Given the description of an element on the screen output the (x, y) to click on. 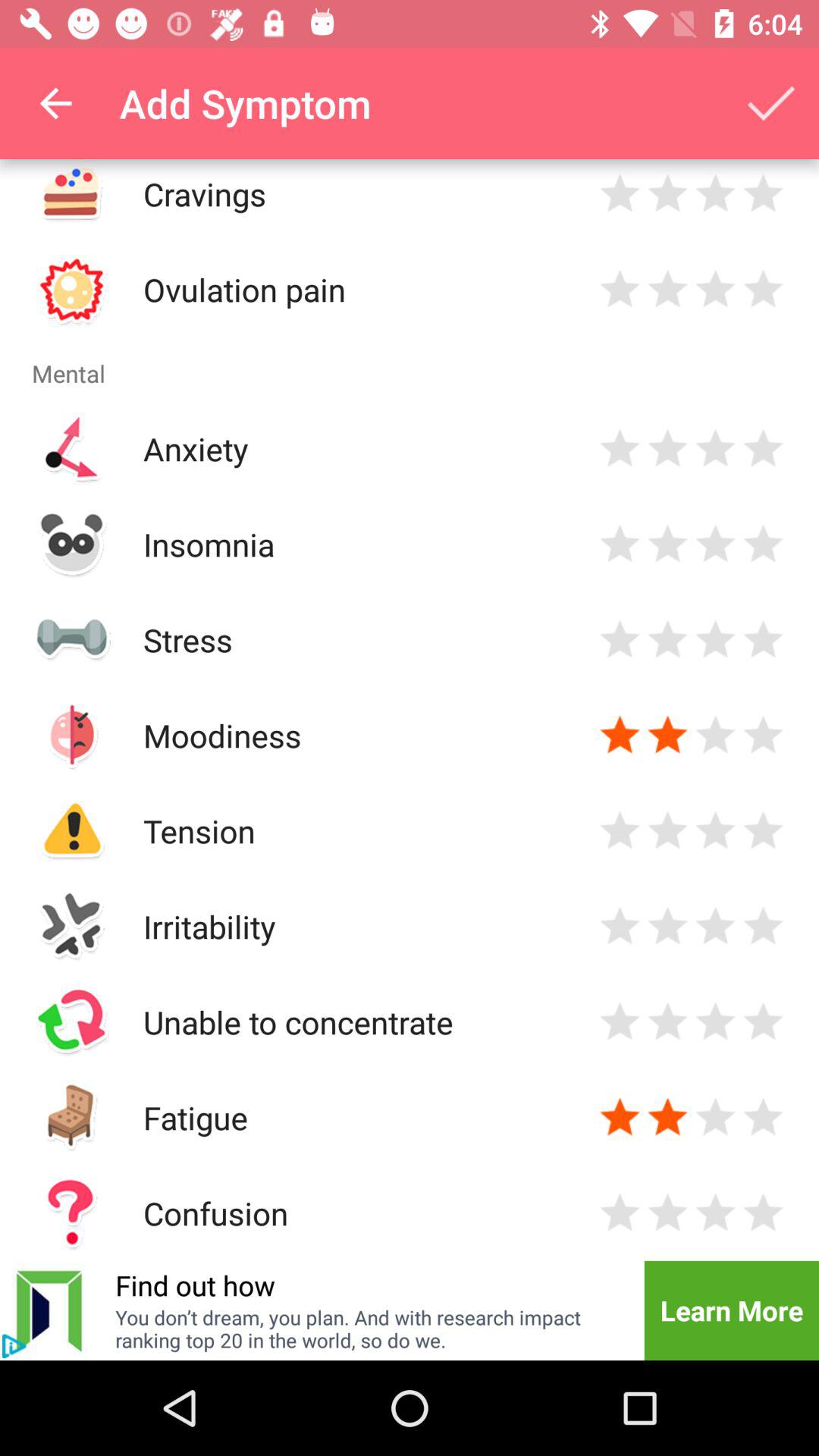
rating (667, 1213)
